Given the description of an element on the screen output the (x, y) to click on. 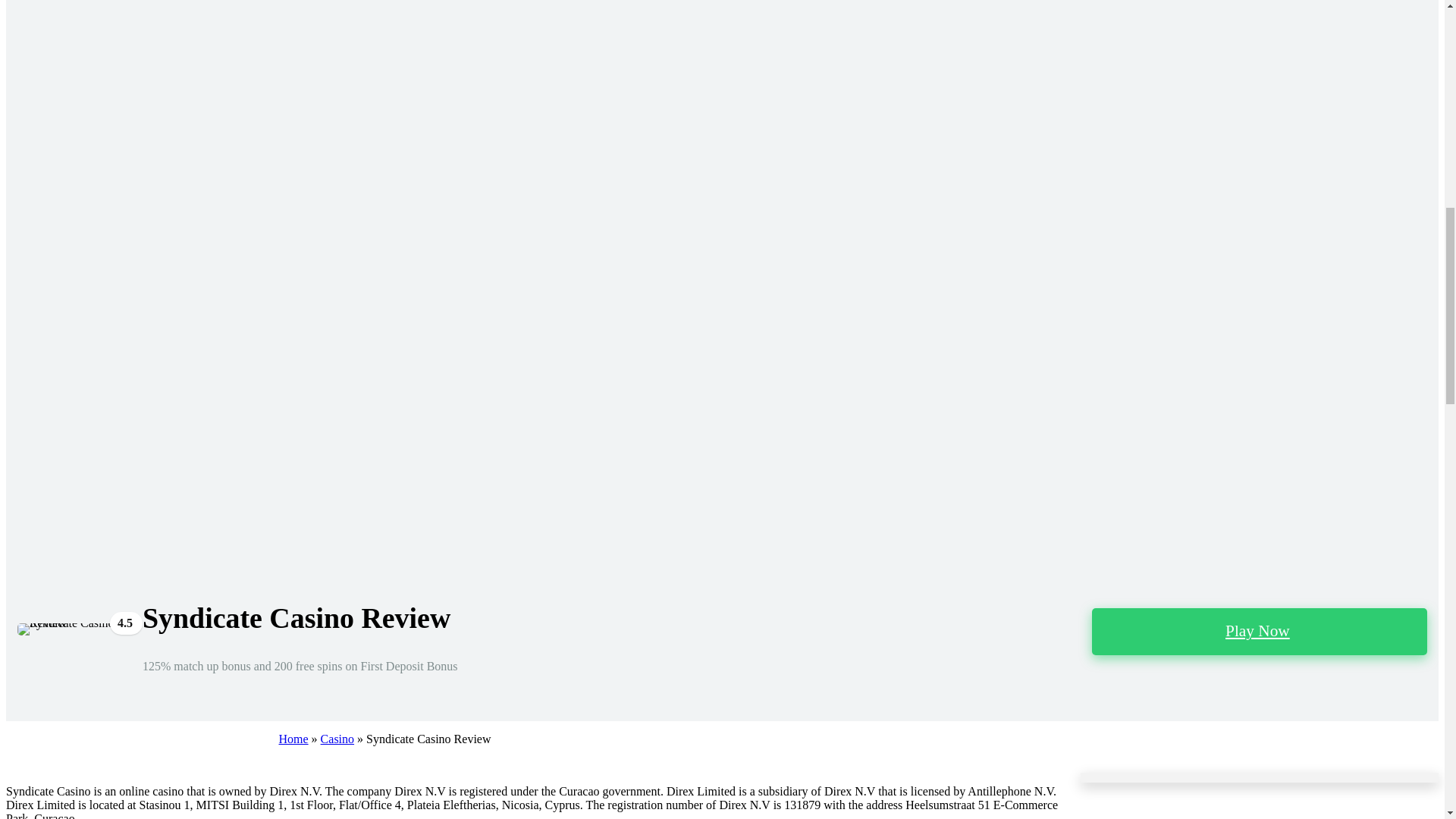
Play Now (1259, 631)
